Given the description of an element on the screen output the (x, y) to click on. 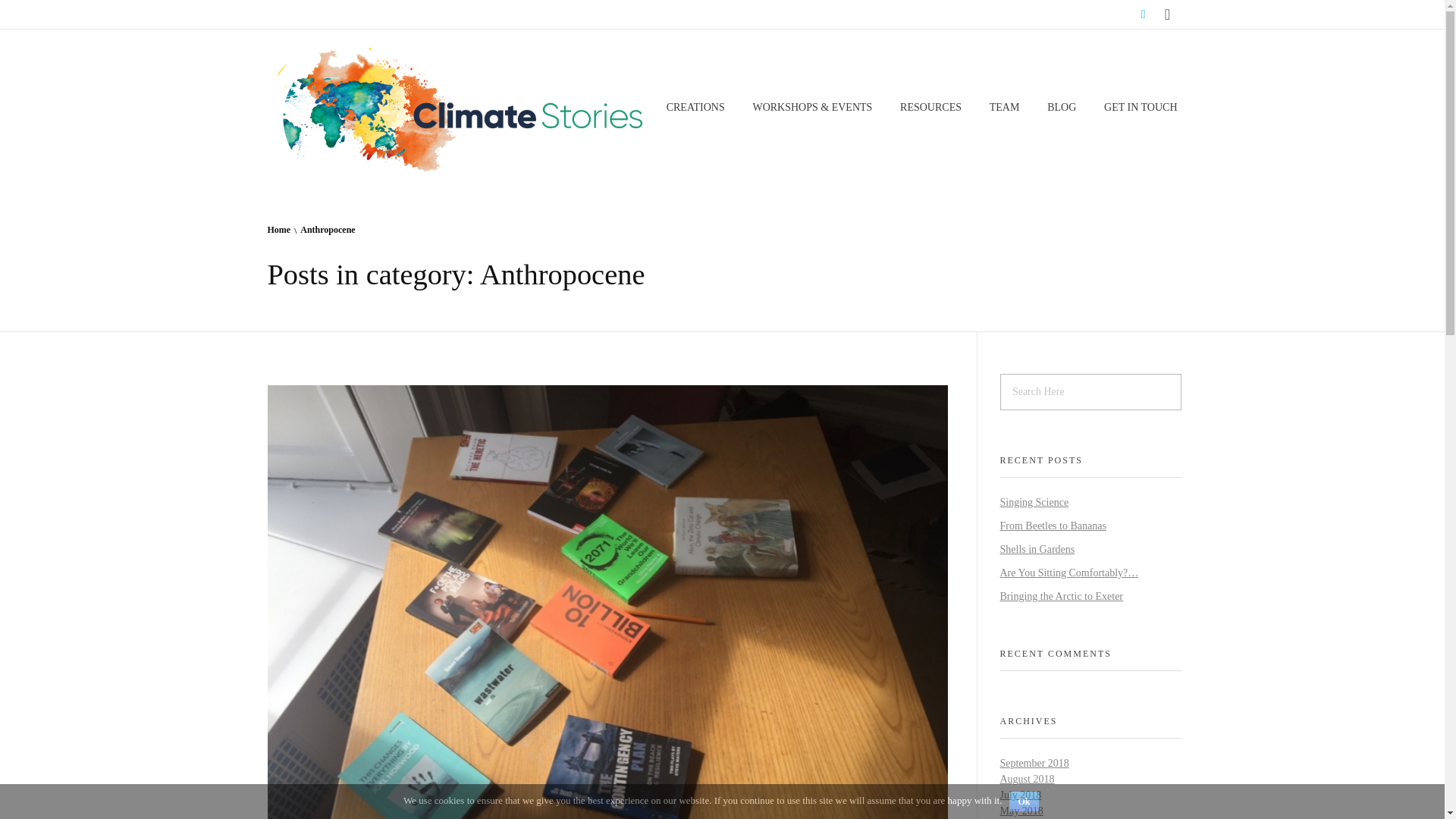
July 2018 (1019, 794)
September 2018 (1033, 763)
August 2018 (1026, 778)
Shells in Gardens (1036, 549)
Search (42, 13)
Home (277, 229)
From Beetles to Bananas (1051, 525)
Home (277, 229)
Singing Science (1033, 501)
May 2018 (1020, 810)
